Given the description of an element on the screen output the (x, y) to click on. 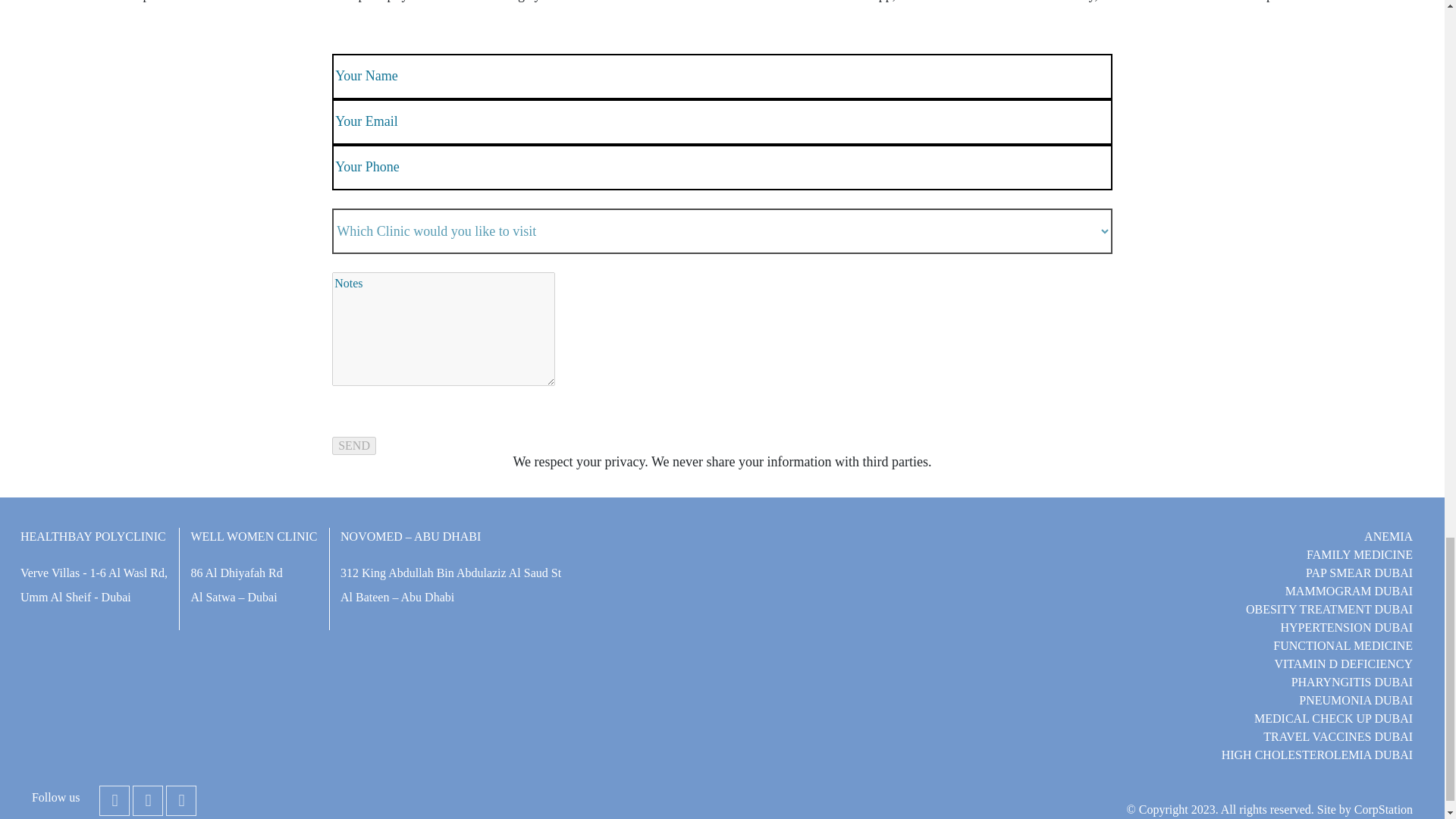
ANEMIA (1388, 535)
TRAVEL VACCINES DUBAI (1337, 736)
HYPERTENSION DUBAI (1345, 626)
VITAMIN D DEFICIENCY (1343, 663)
FUNCTIONAL MEDICINE (1342, 645)
MAMMOGRAM DUBAI (1348, 590)
FAMILY MEDICINE (1359, 554)
PAP SMEAR DUBAI (1359, 572)
MEDICAL CHECK UP DUBAI (1332, 717)
SEND (353, 445)
PHARYNGITIS DUBAI (1351, 681)
HIGH CHOLESTEROLEMIA DUBAI (1316, 754)
SEND (353, 445)
OBESITY TREATMENT DUBAI (1329, 608)
PNEUMONIA DUBAI (1355, 699)
